Given the description of an element on the screen output the (x, y) to click on. 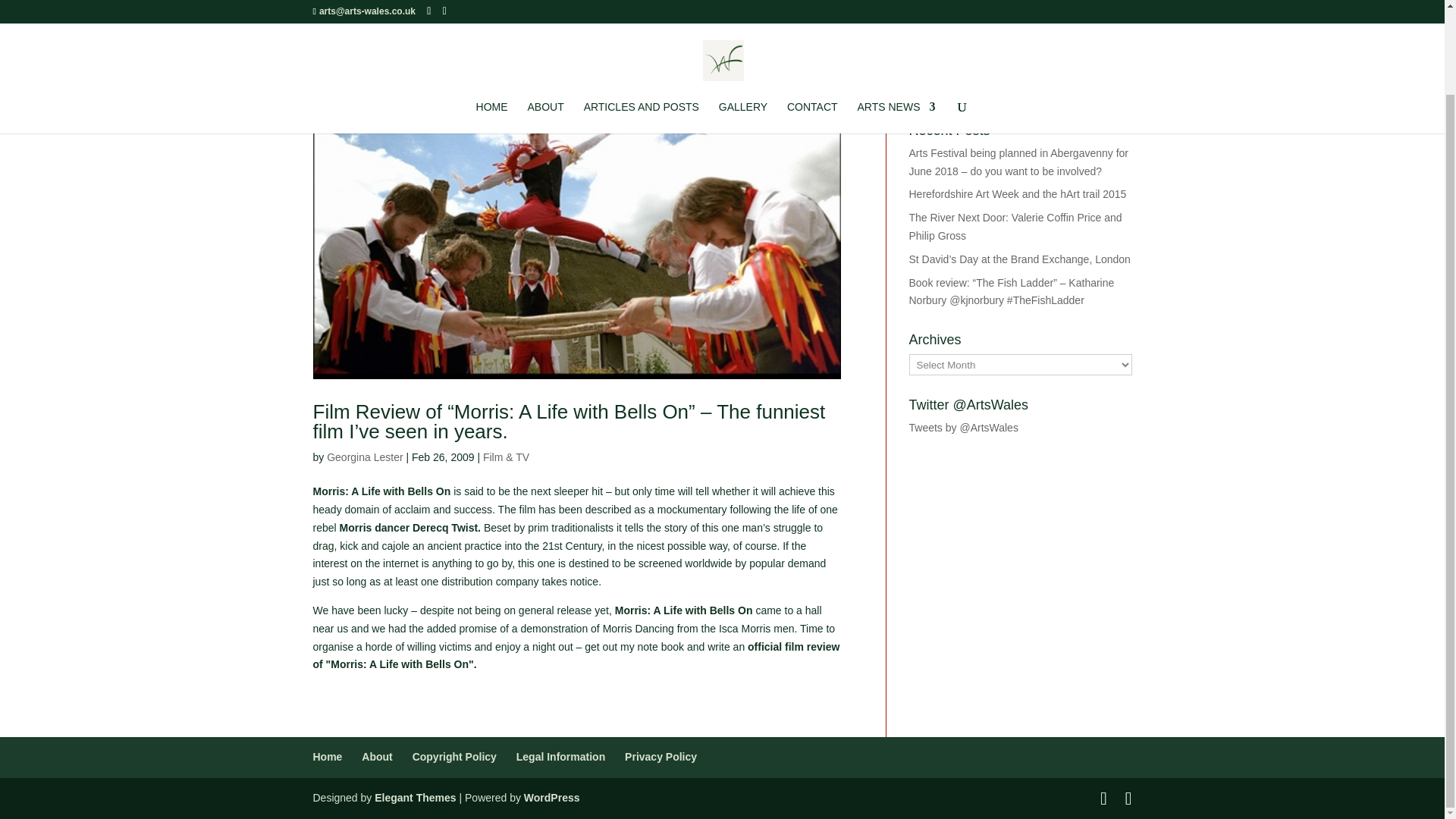
CONTACT (812, 21)
Herefordshire Art Week and the hArt trail 2015 (1016, 193)
Privacy Policy (660, 756)
HOME (492, 21)
ARTS NEWS (895, 21)
Premium WordPress Themes (414, 797)
Copyright Policy (454, 756)
GALLERY (743, 21)
ARTICLES AND POSTS (640, 21)
Georgina Lester (364, 457)
